Given the description of an element on the screen output the (x, y) to click on. 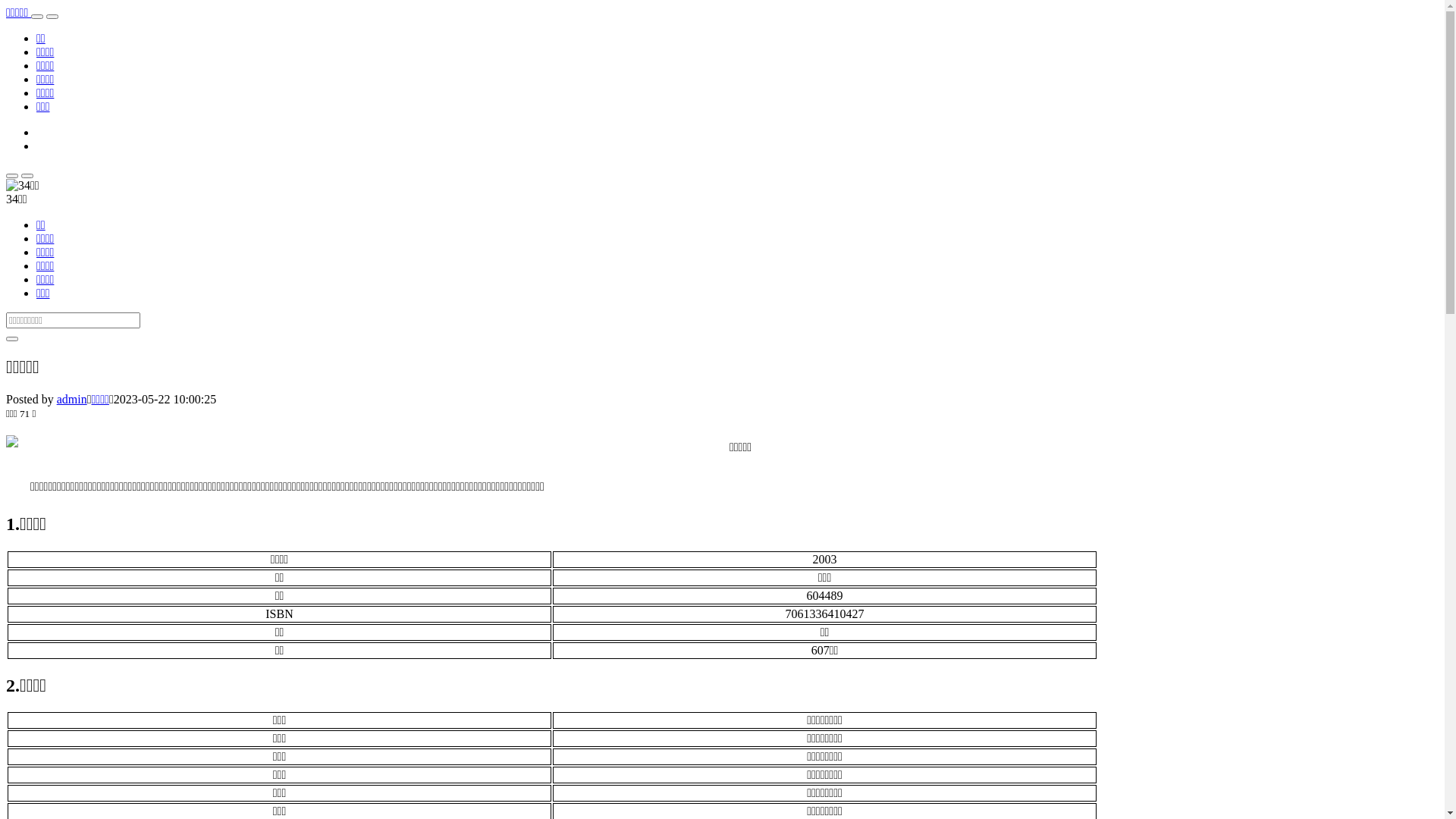
admin Element type: text (71, 398)
